Given the description of an element on the screen output the (x, y) to click on. 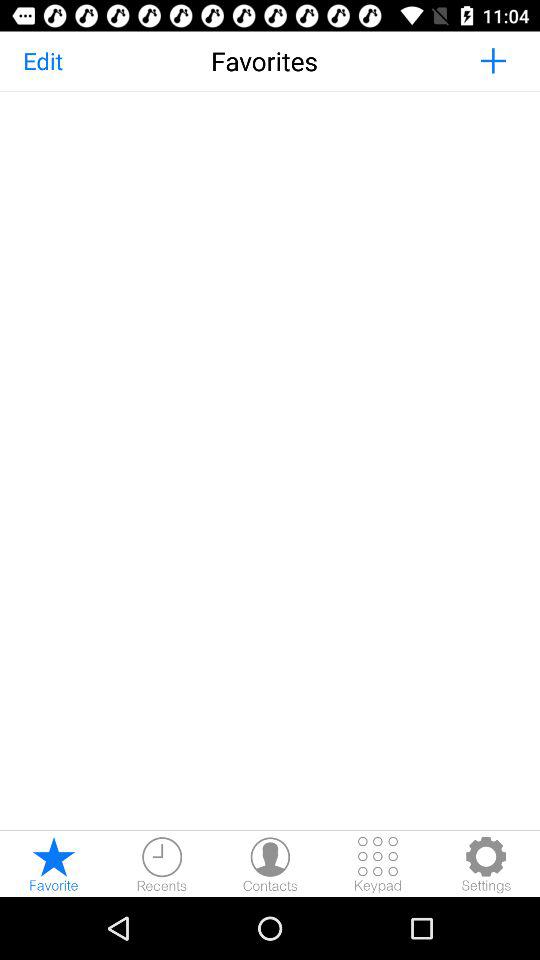
see the contact list (269, 864)
